Given the description of an element on the screen output the (x, y) to click on. 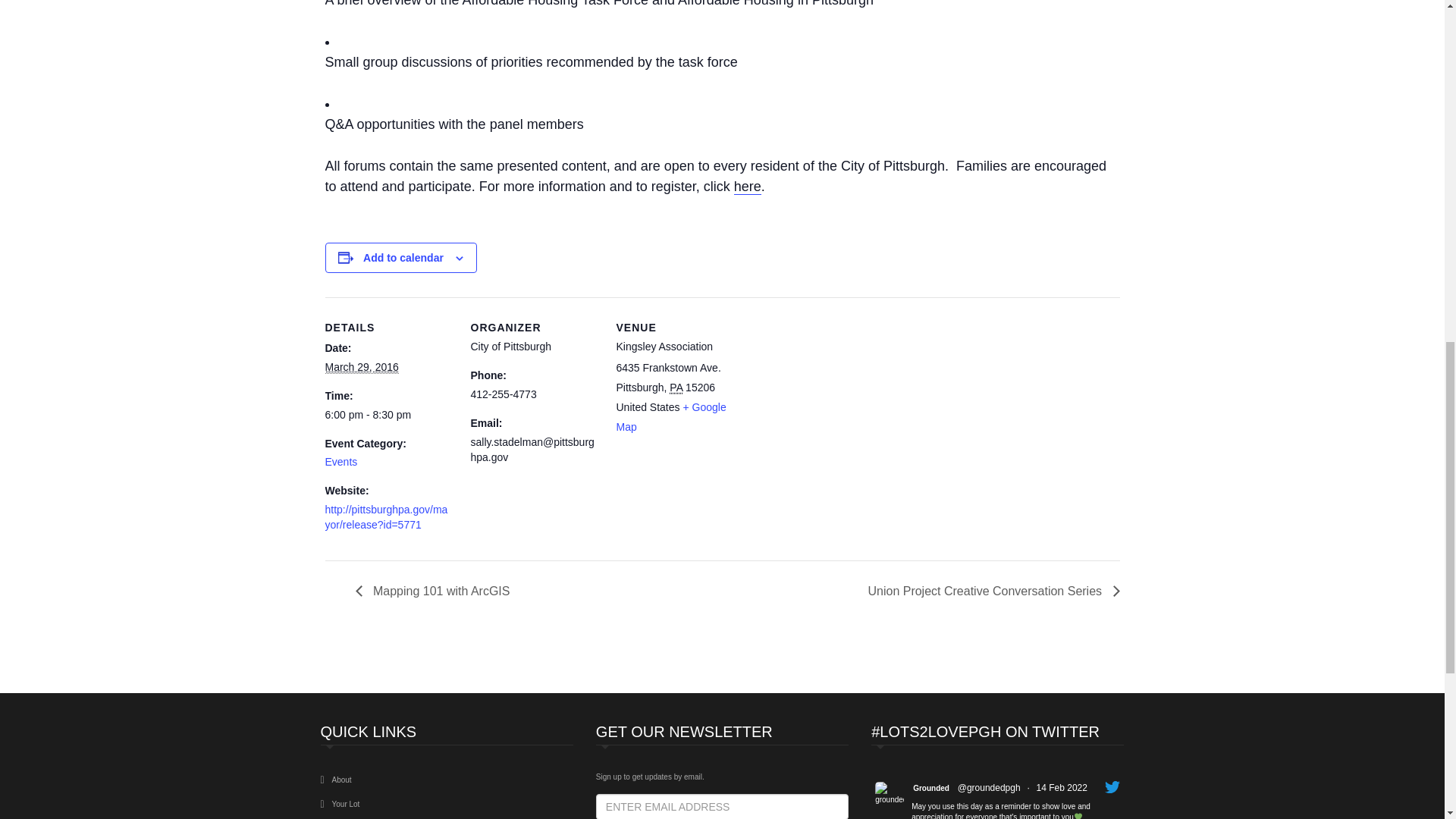
Click to view a Google Map (670, 417)
14 Feb 2022 (1061, 787)
Events (340, 461)
here (747, 186)
Your Lot (345, 804)
2016-03-29 (387, 415)
Union Project Creative Conversation Series (989, 590)
Grounded (930, 787)
About (341, 779)
2016-03-29 (360, 367)
Mapping 101 with ArcGIS (436, 590)
Add to calendar (403, 257)
